Given the description of an element on the screen output the (x, y) to click on. 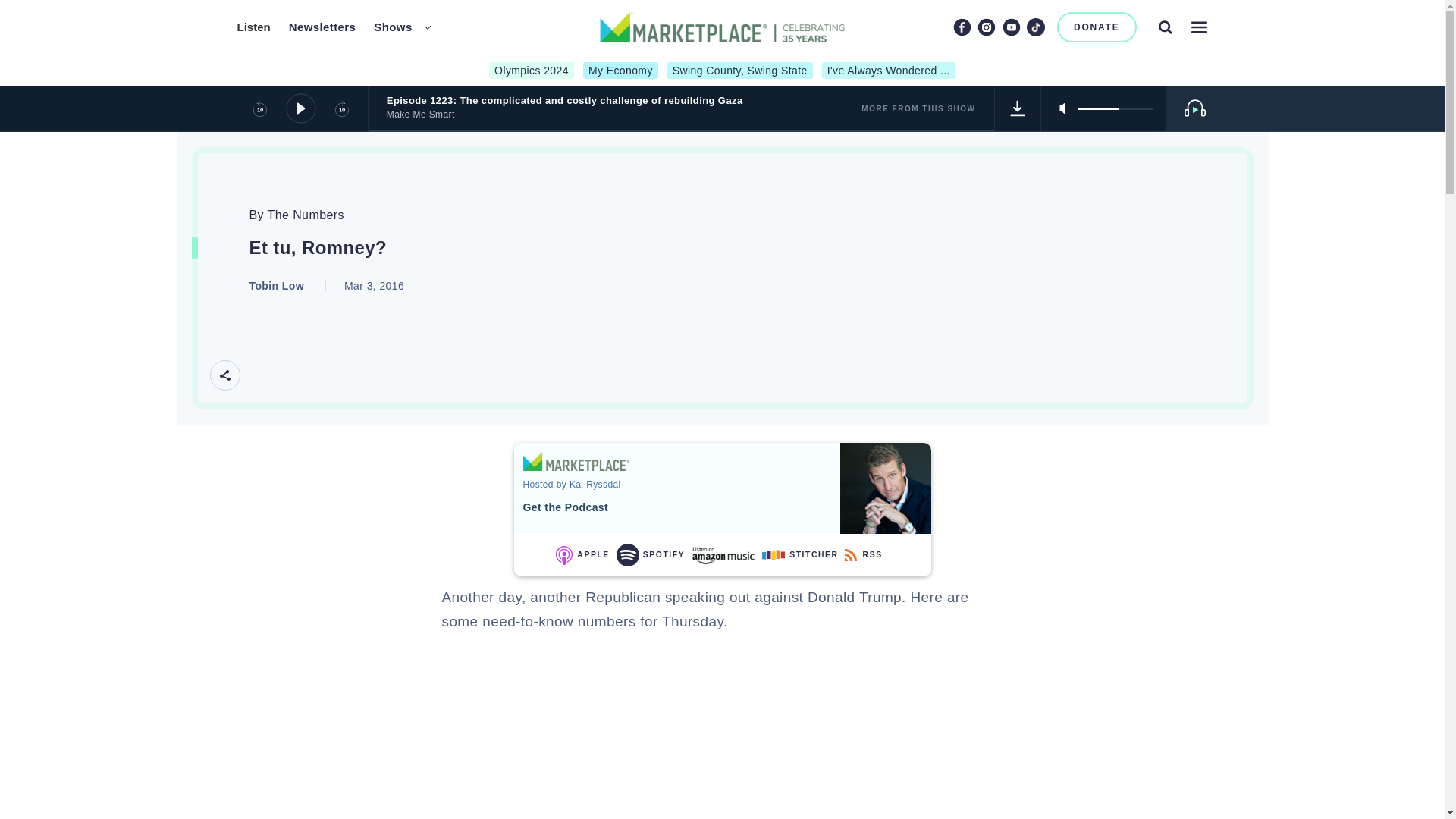
Marketplace (575, 461)
volume (1115, 108)
Instagram (985, 27)
Search (1164, 27)
DONATE (1097, 27)
Download Track (1017, 108)
Menu (1198, 27)
Shows (393, 26)
Newsletters (322, 27)
